Given the description of an element on the screen output the (x, y) to click on. 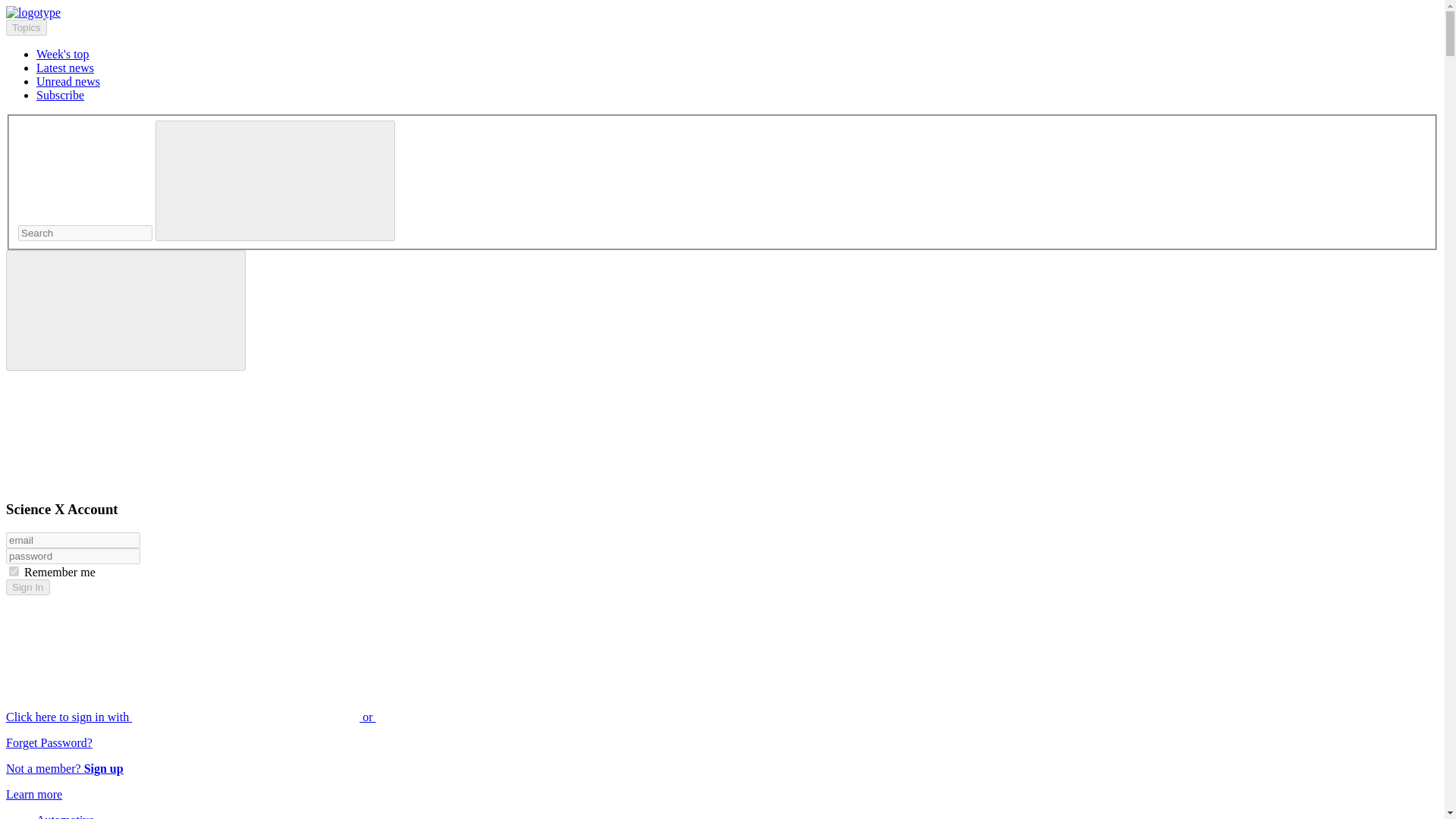
Automotive (65, 816)
on (13, 571)
Sign In (27, 587)
Topics (25, 27)
Latest news (65, 67)
Unread news (68, 81)
Week's top (62, 53)
Not a member? Sign up (64, 768)
Subscribe (60, 94)
Forget Password? (49, 742)
Click here to sign in with or (304, 716)
Learn more (33, 793)
